Given the description of an element on the screen output the (x, y) to click on. 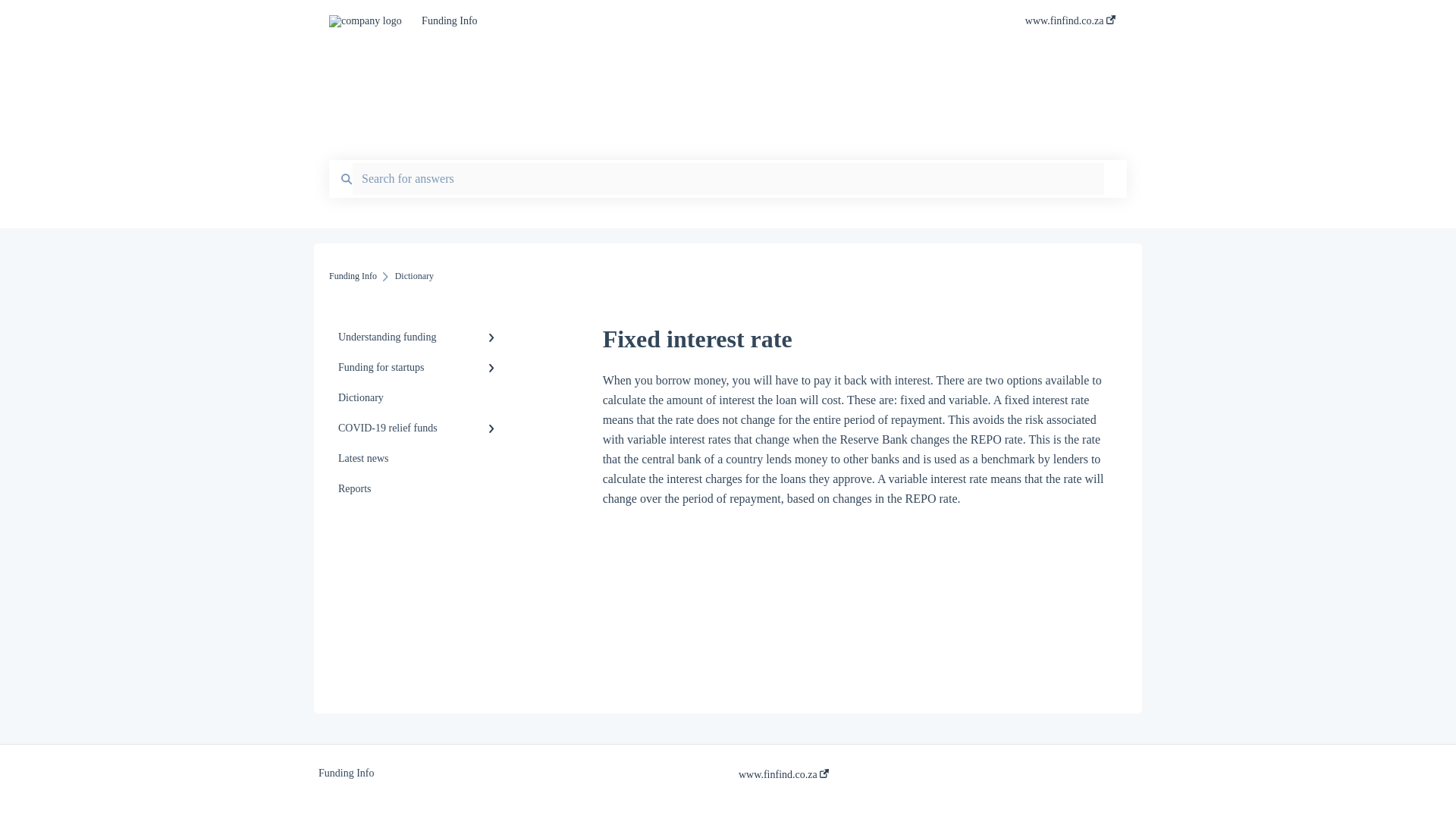
Funding Info (353, 276)
Understanding funding (420, 337)
Funding Info (700, 21)
Funding for startups (420, 367)
www.finfind.co.za (1070, 25)
